Given the description of an element on the screen output the (x, y) to click on. 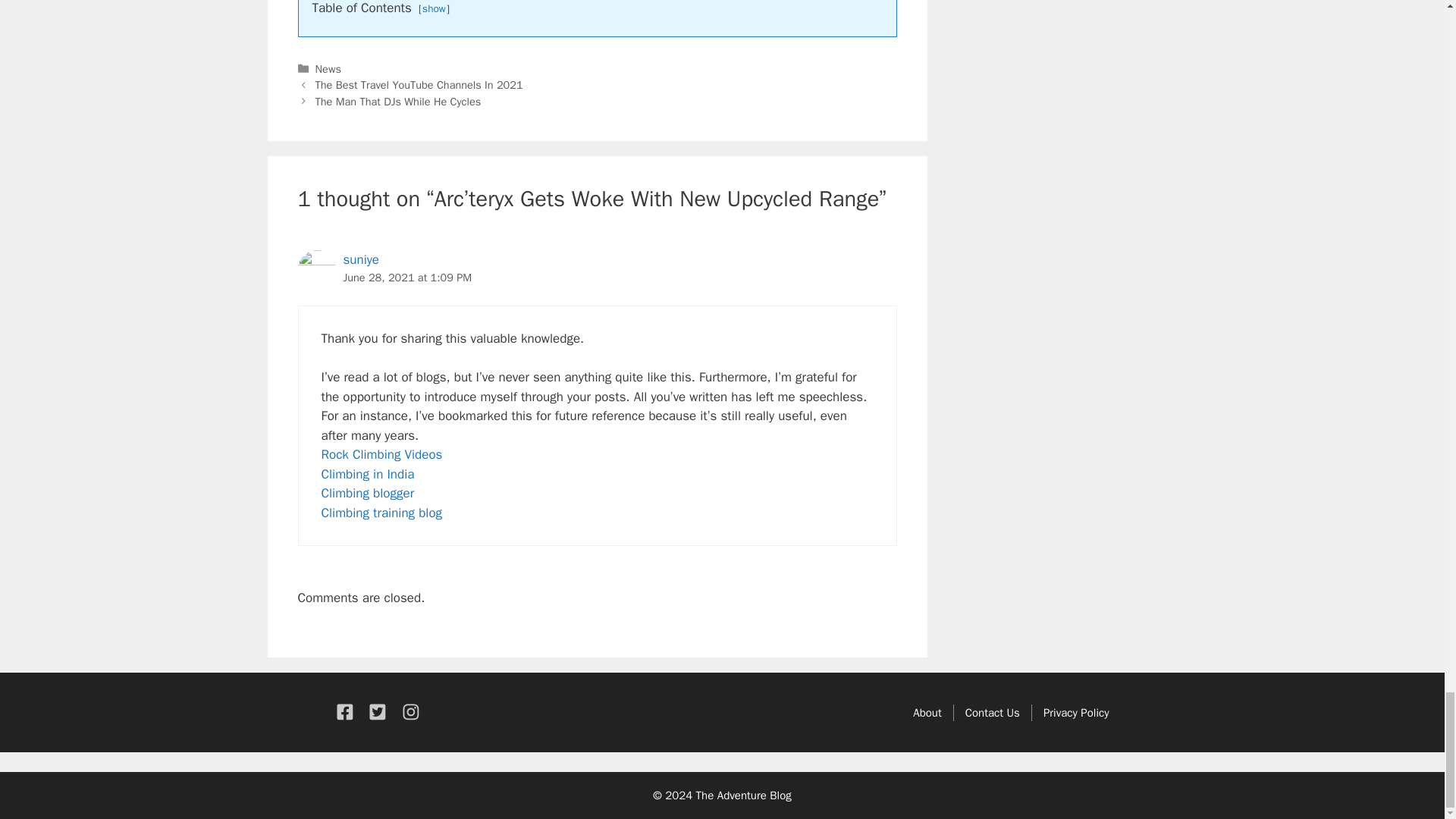
suniye (360, 259)
The Best Travel YouTube Channels In 2021 (418, 84)
show (433, 8)
The Man That DJs While He Cycles (398, 101)
News (327, 69)
